Given the description of an element on the screen output the (x, y) to click on. 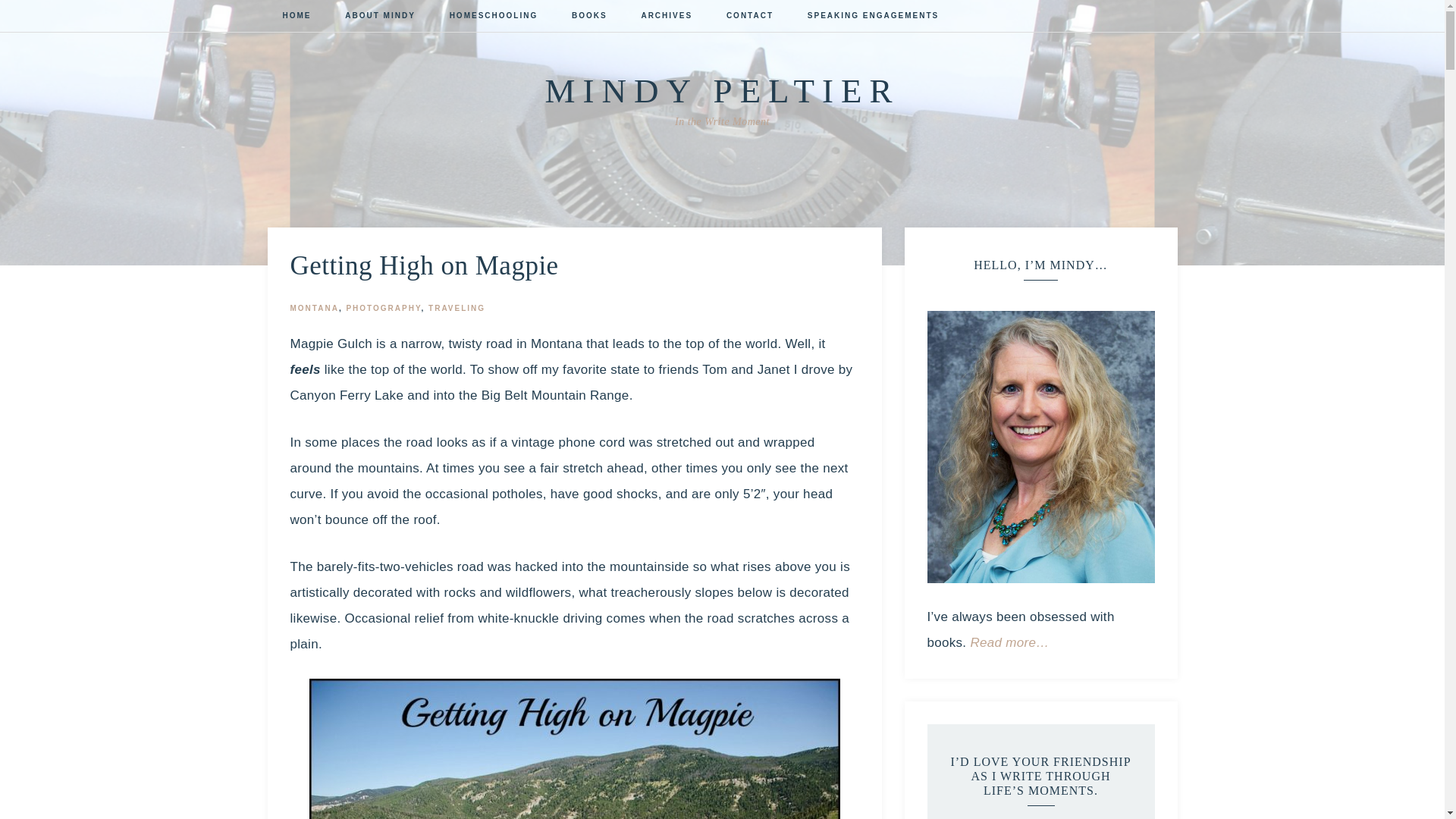
HOMESCHOOLING (493, 17)
TRAVELING (456, 307)
CONTACT (750, 17)
MINDY PELTIER (721, 90)
SPEAKING ENGAGEMENTS (872, 17)
HOME (296, 17)
ARCHIVES (666, 17)
BOOKS (589, 17)
MONTANA (313, 307)
PHOTOGRAPHY (383, 307)
